Given the description of an element on the screen output the (x, y) to click on. 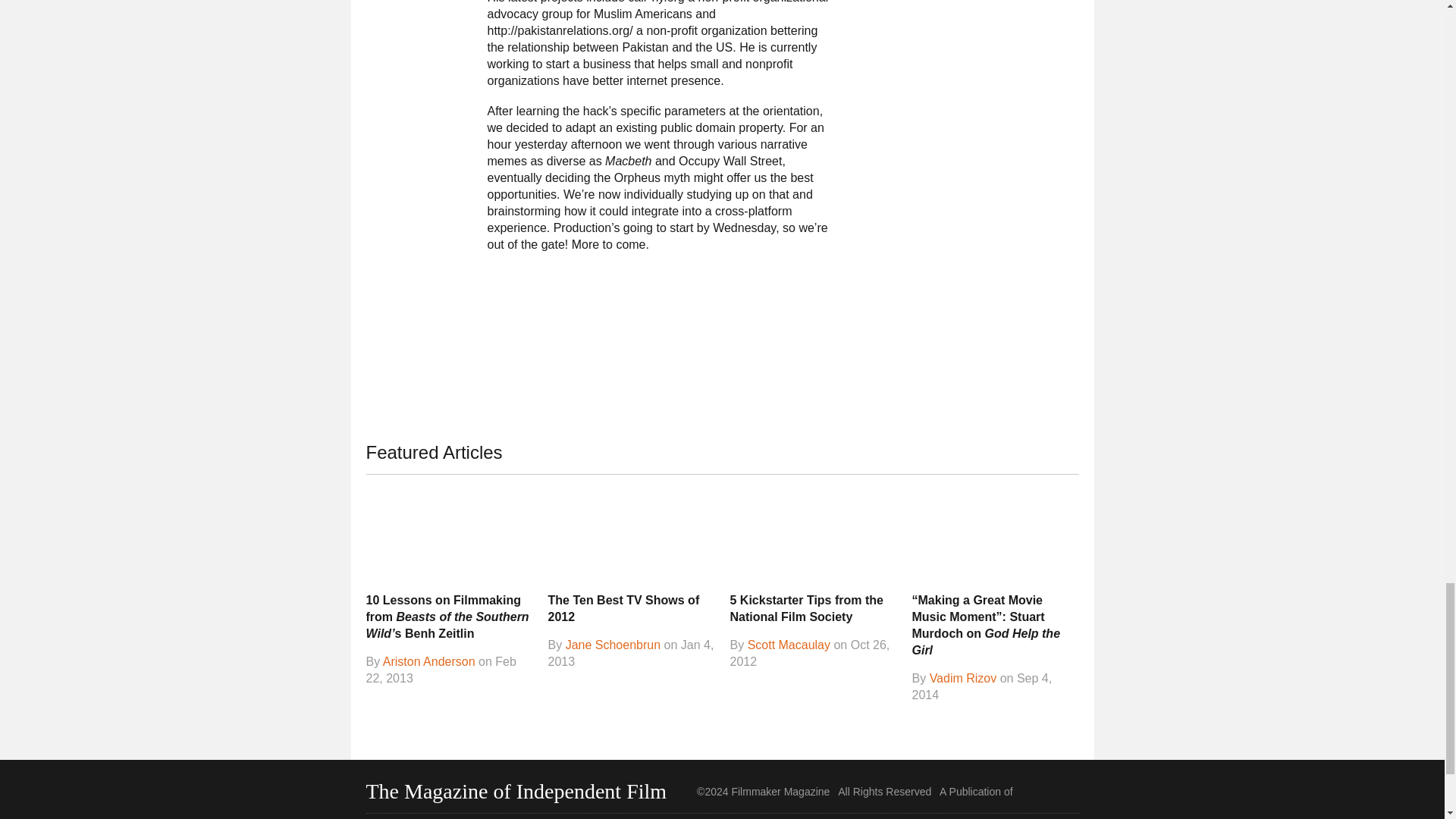
Posts by Ariston Anderson (429, 662)
Posts by Vadim Rizov (963, 678)
Posts by Jane Schoenbrun (613, 644)
Posts by Scott Macaulay (788, 644)
